Given the description of an element on the screen output the (x, y) to click on. 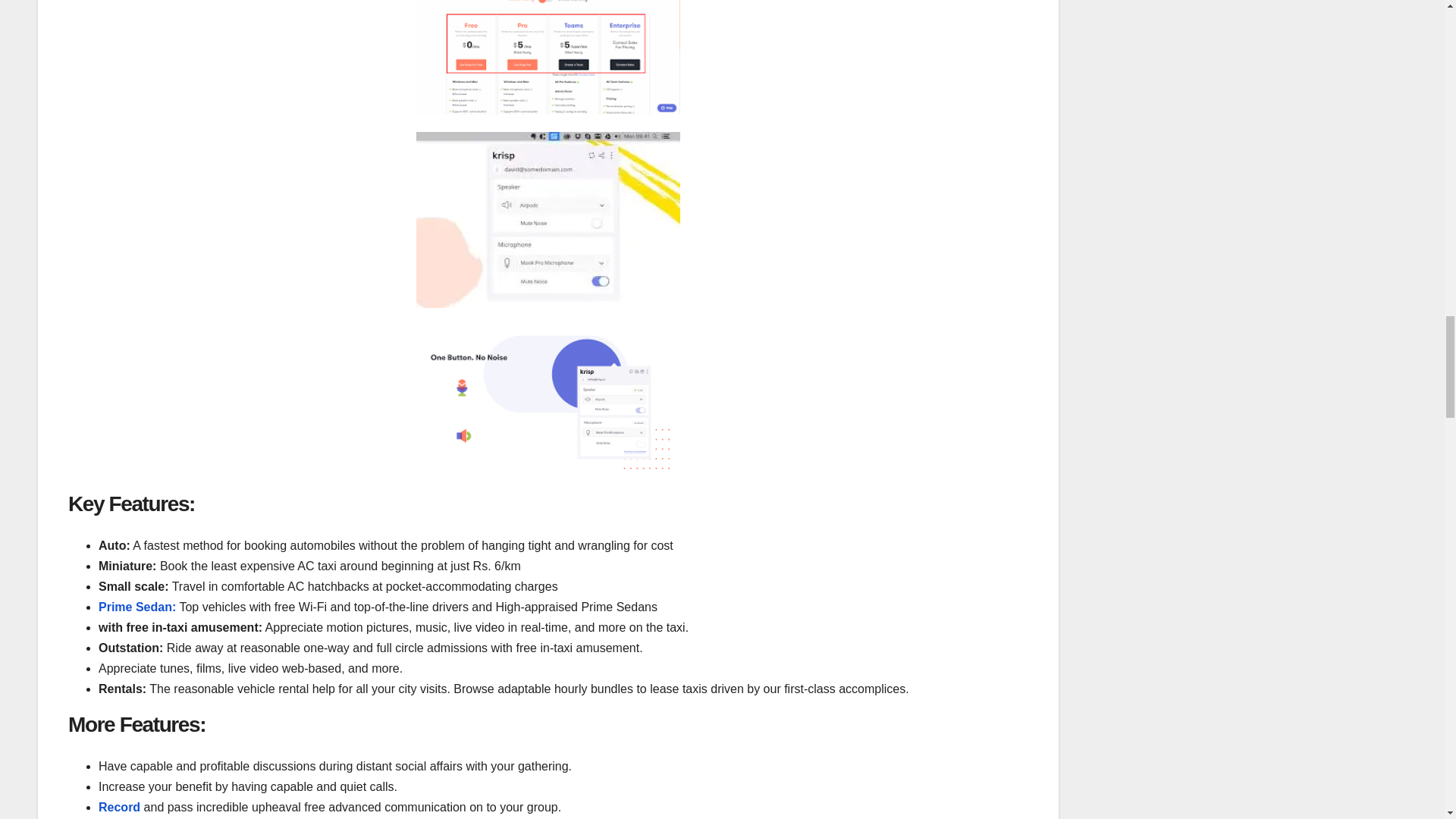
Prime Sedan: (137, 606)
Record (119, 807)
